Given the description of an element on the screen output the (x, y) to click on. 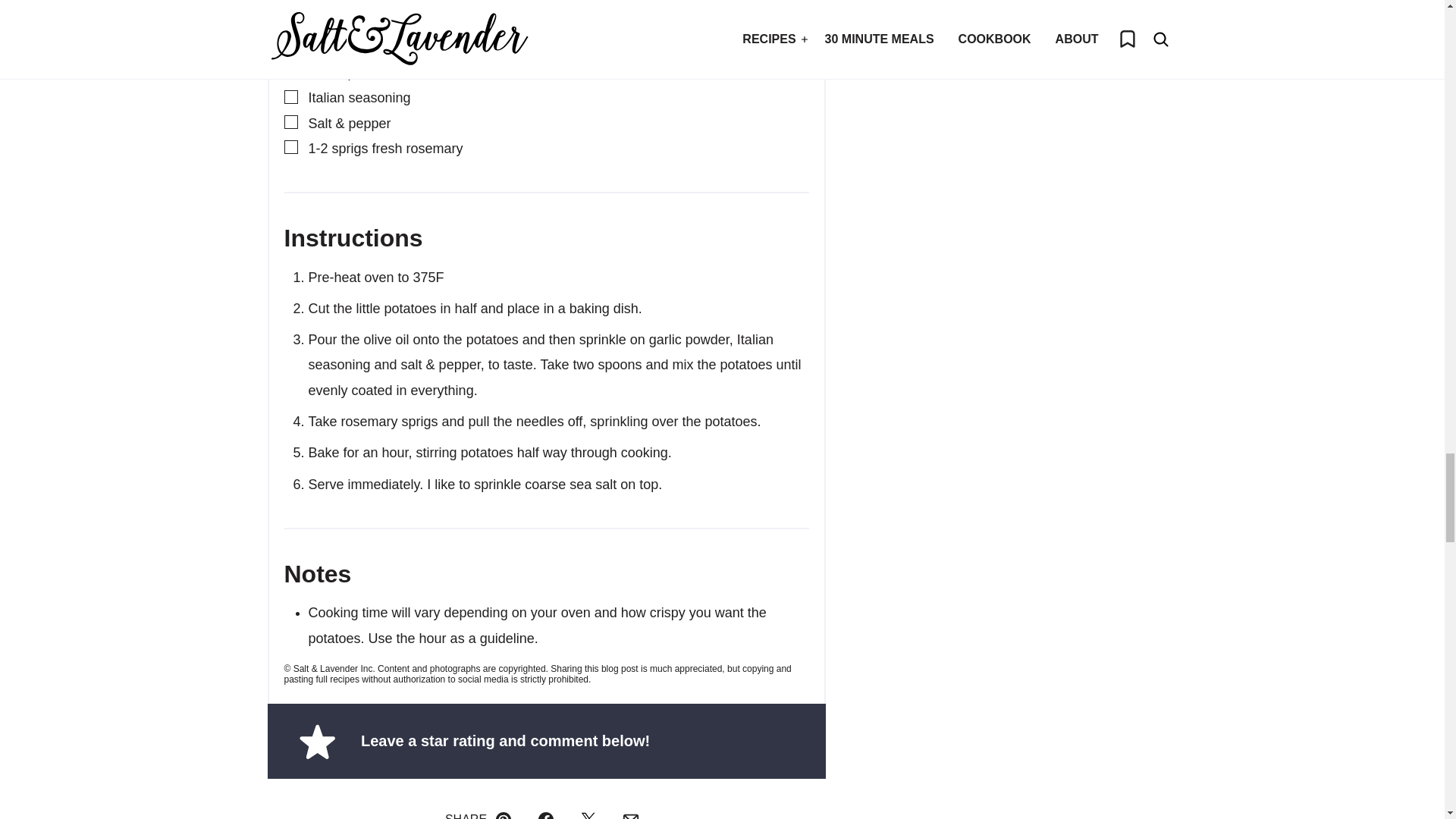
Share on Twitter (588, 811)
Share on Pinterest (502, 811)
Share via Email (630, 811)
Share on Facebook (545, 811)
